Given the description of an element on the screen output the (x, y) to click on. 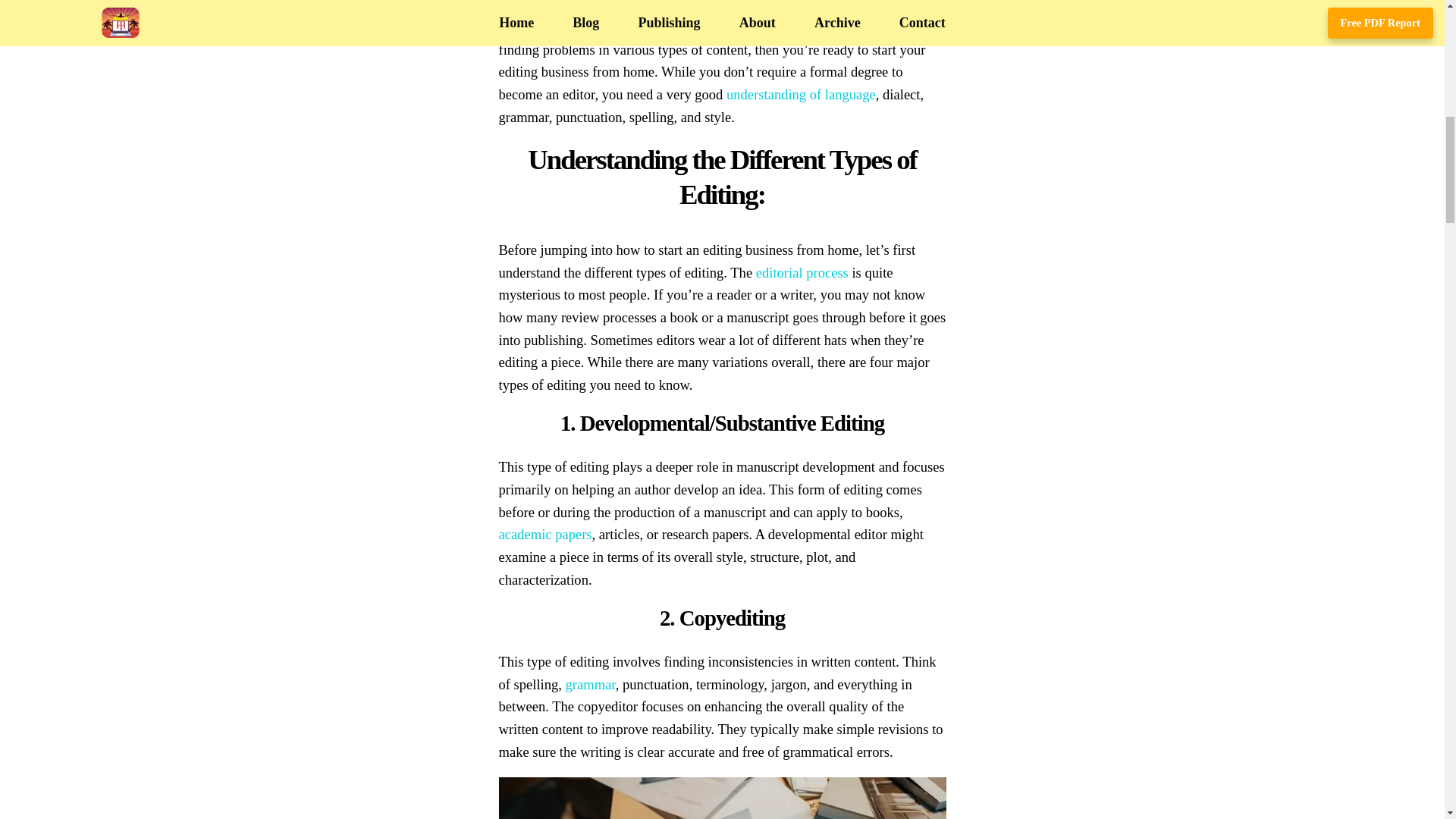
grammar plays a crucial role (668, 6)
understanding of language (801, 94)
editorial process (801, 272)
academic papers (545, 534)
grammar (590, 684)
